Given the description of an element on the screen output the (x, y) to click on. 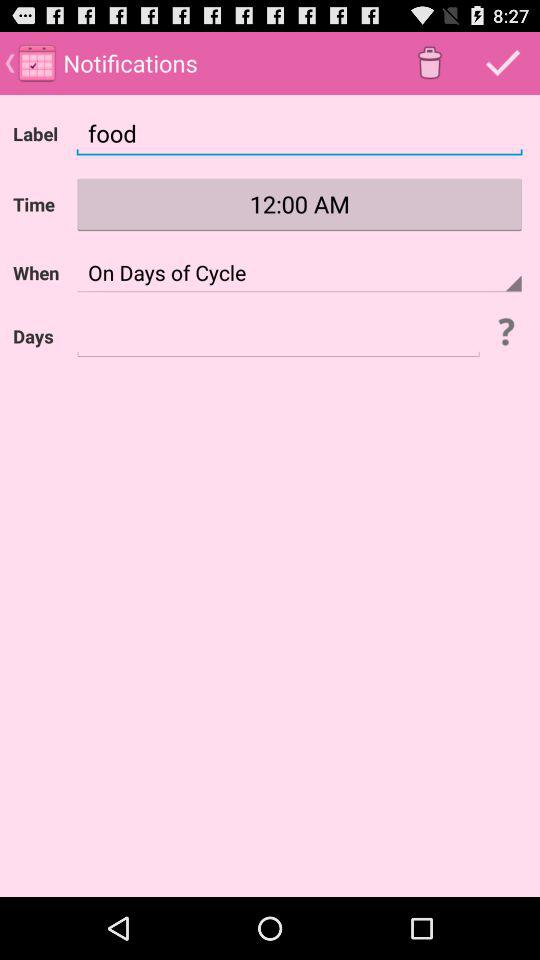
open help info (505, 331)
